Given the description of an element on the screen output the (x, y) to click on. 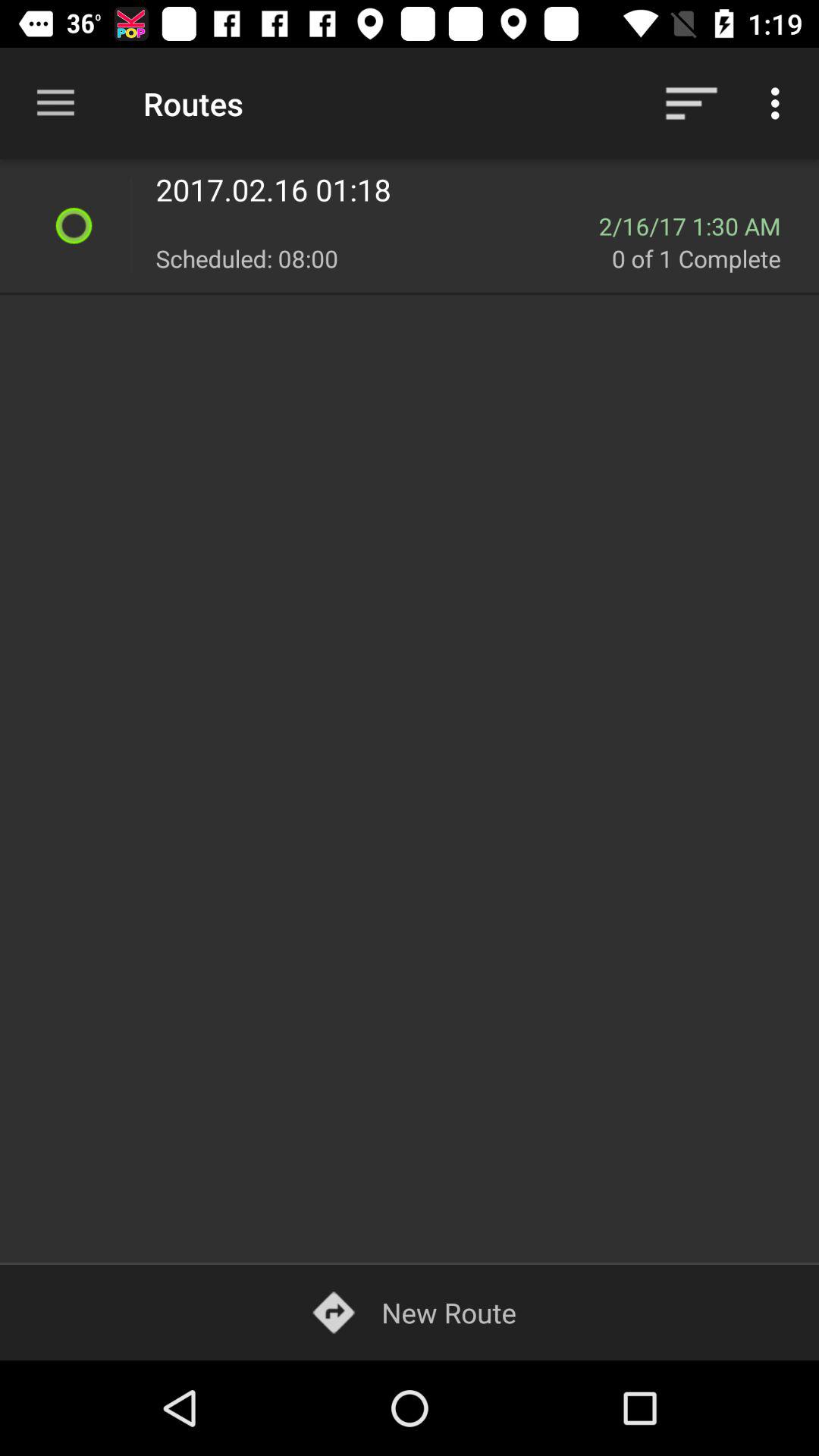
jump until the 2 16 17 icon (699, 225)
